Given the description of an element on the screen output the (x, y) to click on. 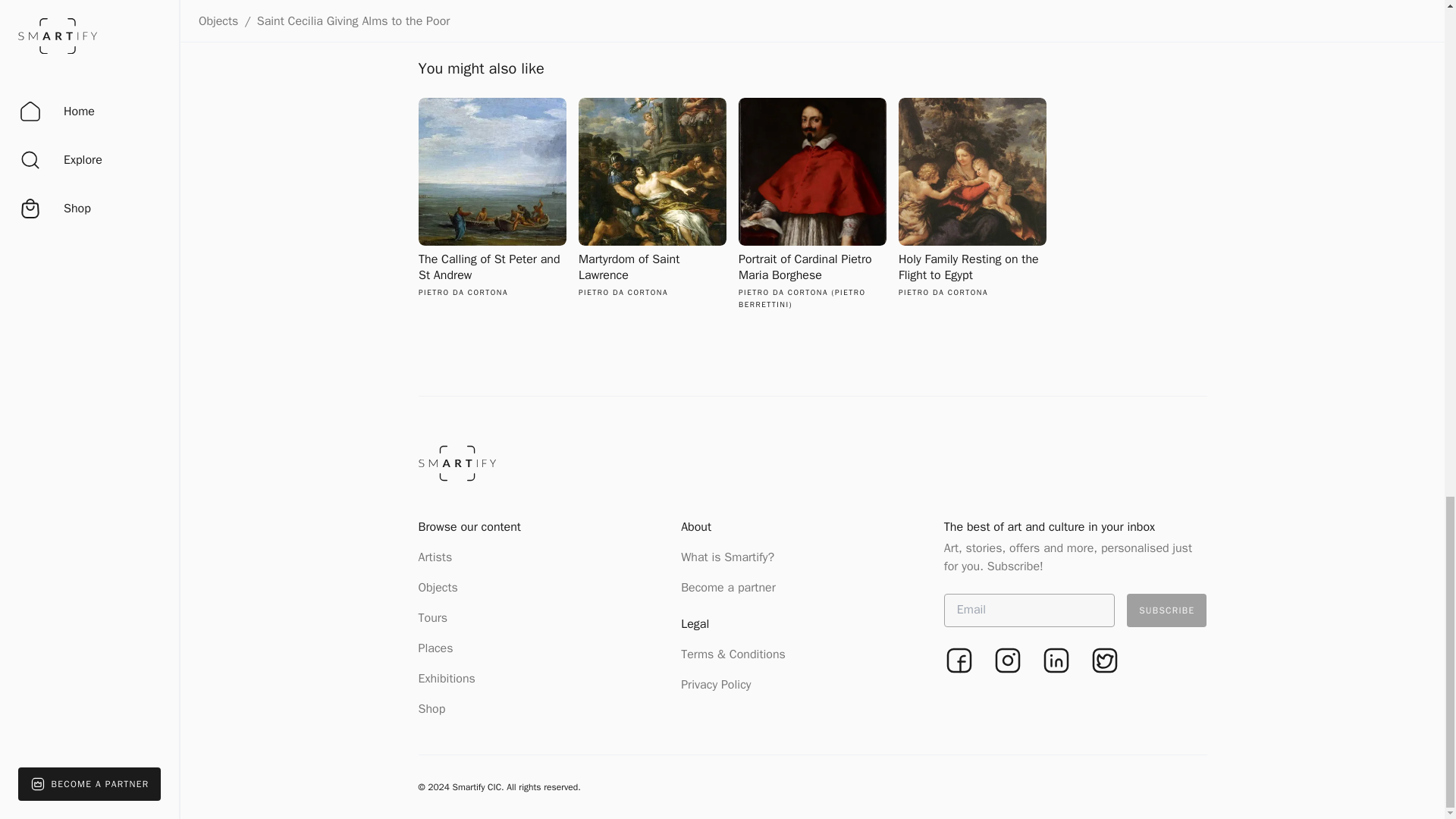
Smartify on Instagram (1007, 660)
Exhibitions (492, 197)
Smartify on Twitter (447, 678)
Become a partner (1104, 660)
Artists (728, 587)
SUBSCRIBE (435, 557)
Tours (1166, 610)
Shop (433, 617)
What is Smartify? (652, 197)
Places (432, 708)
Objects (727, 557)
Privacy Policy (435, 648)
